Given the description of an element on the screen output the (x, y) to click on. 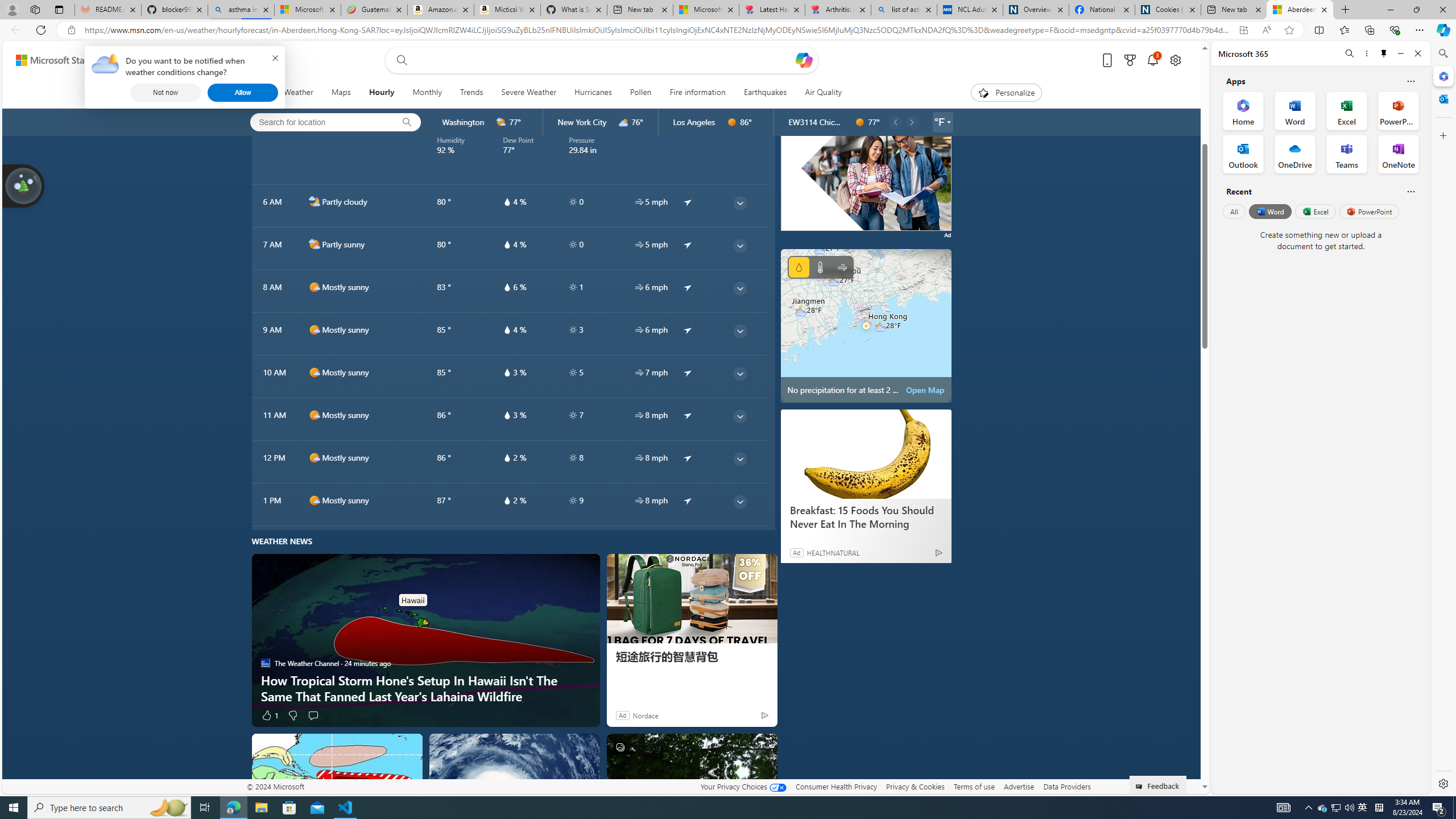
Outlook Office App (1243, 154)
Air Quality (818, 92)
Monthly (427, 92)
Trends (471, 92)
Earthquakes (764, 92)
Pollen (640, 92)
